Given the description of an element on the screen output the (x, y) to click on. 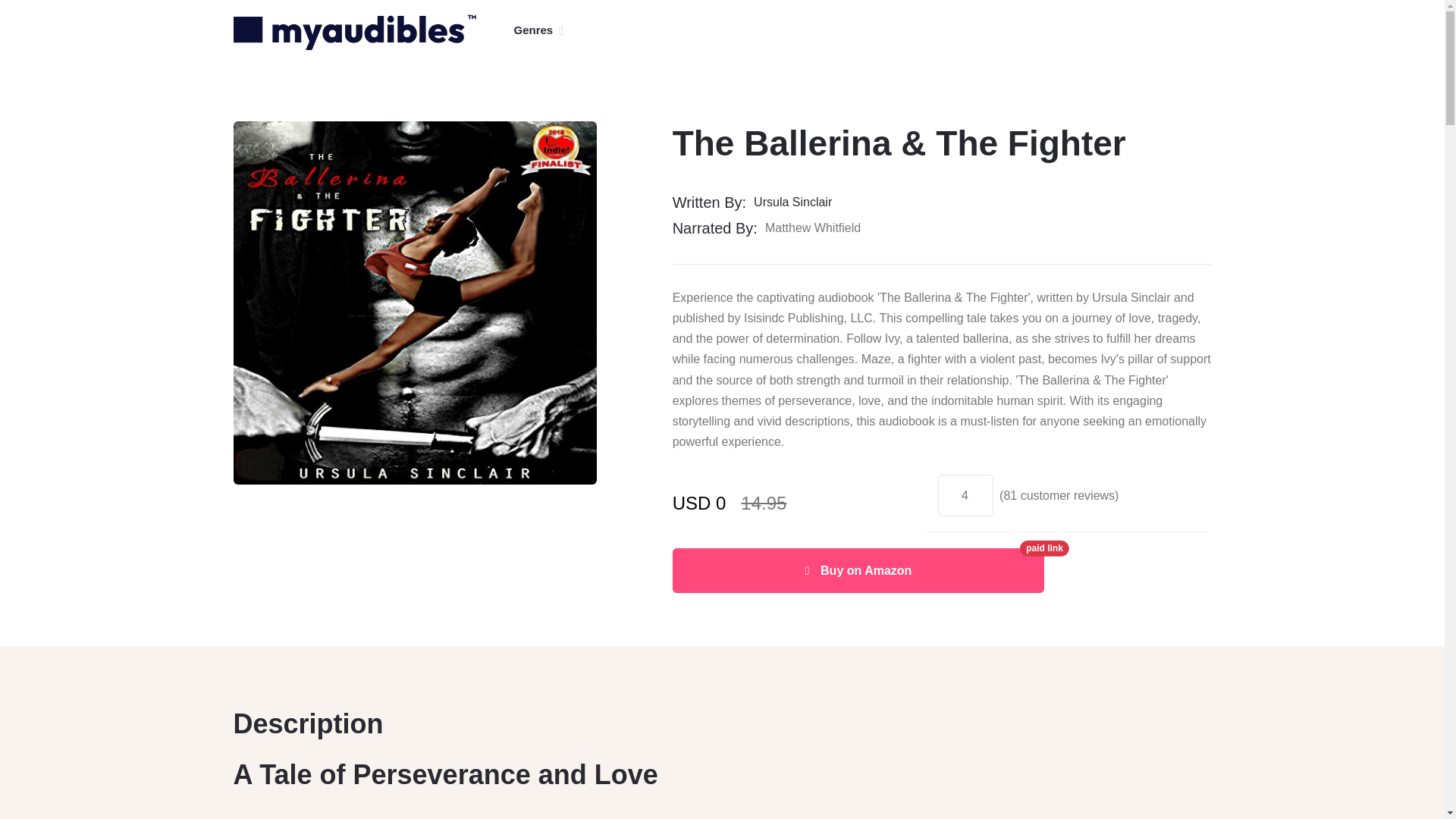
Ursula Sinclair (798, 201)
